Given the description of an element on the screen output the (x, y) to click on. 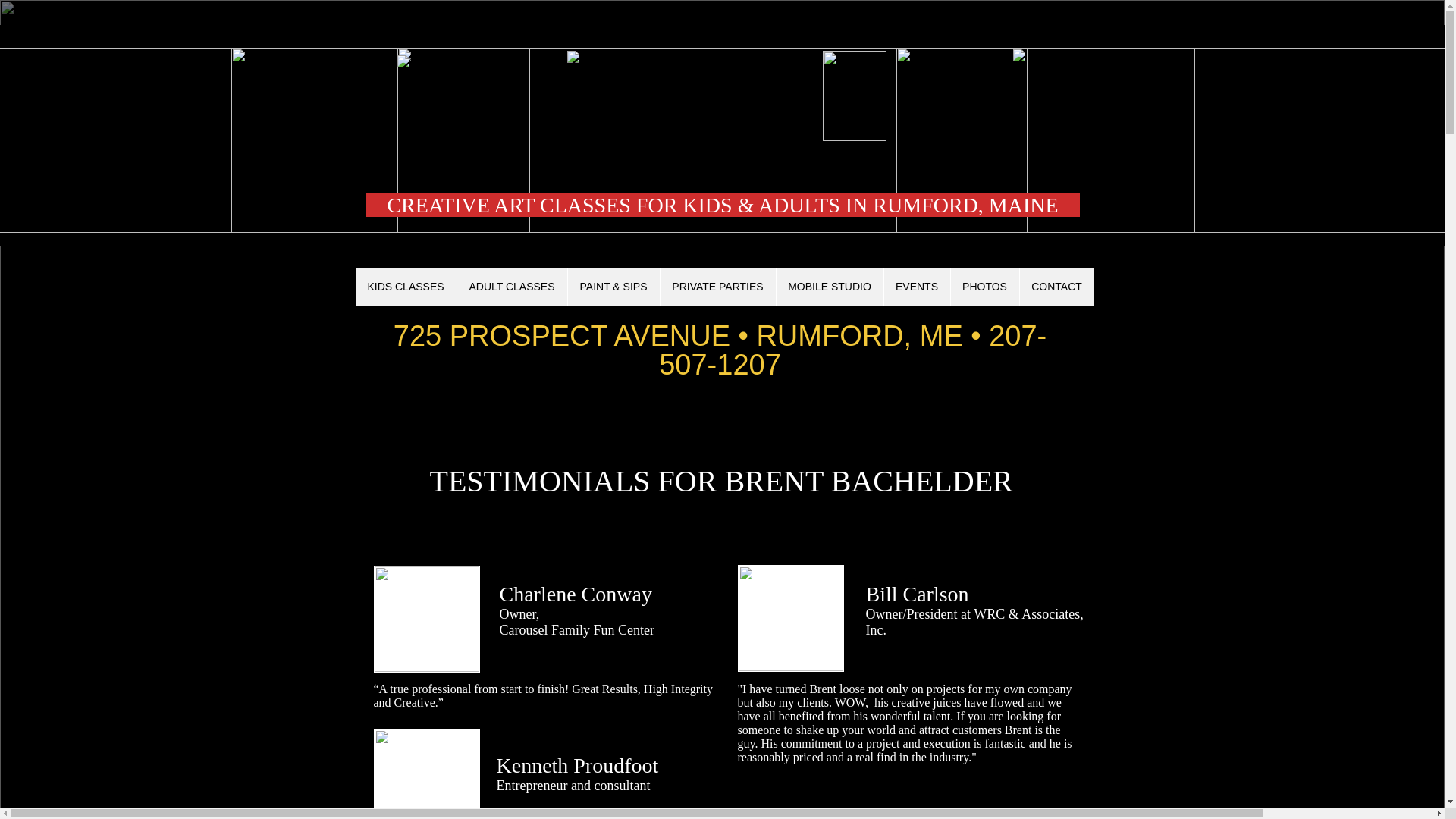
ADULT CLASSES (512, 286)
EVENTS (915, 286)
brick.jpg (223, 139)
PRIVATE PARTIES (717, 286)
MOBILE STUDIO (828, 286)
cc.jpg (425, 618)
PHOTOS (983, 286)
KIDS CLASSES (405, 286)
brick.jpg (712, 139)
CONTACT (1056, 286)
